Given the description of an element on the screen output the (x, y) to click on. 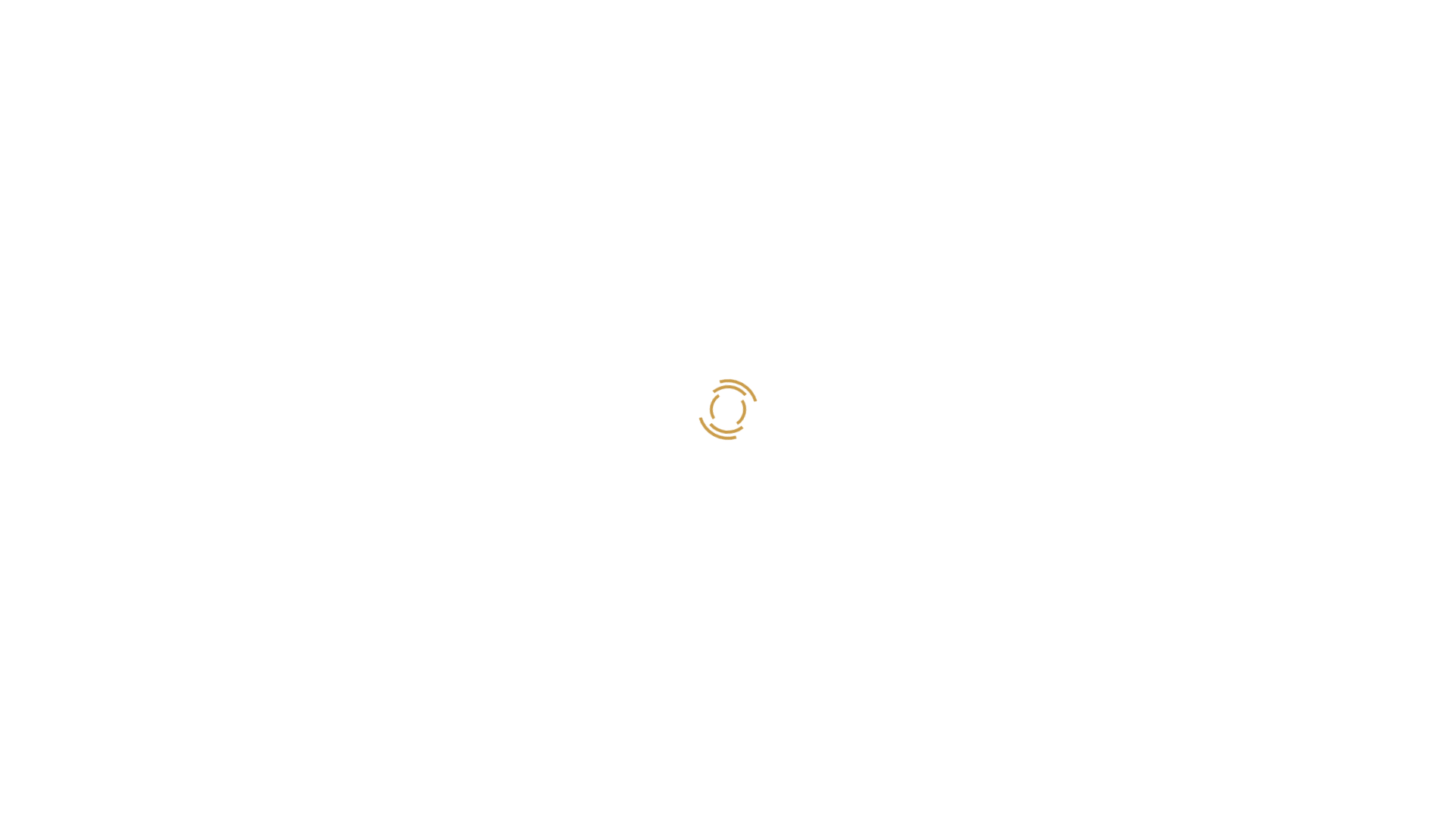
RU Element type: text (1402, 24)
EN Element type: text (1372, 24)
